Given the description of an element on the screen output the (x, y) to click on. 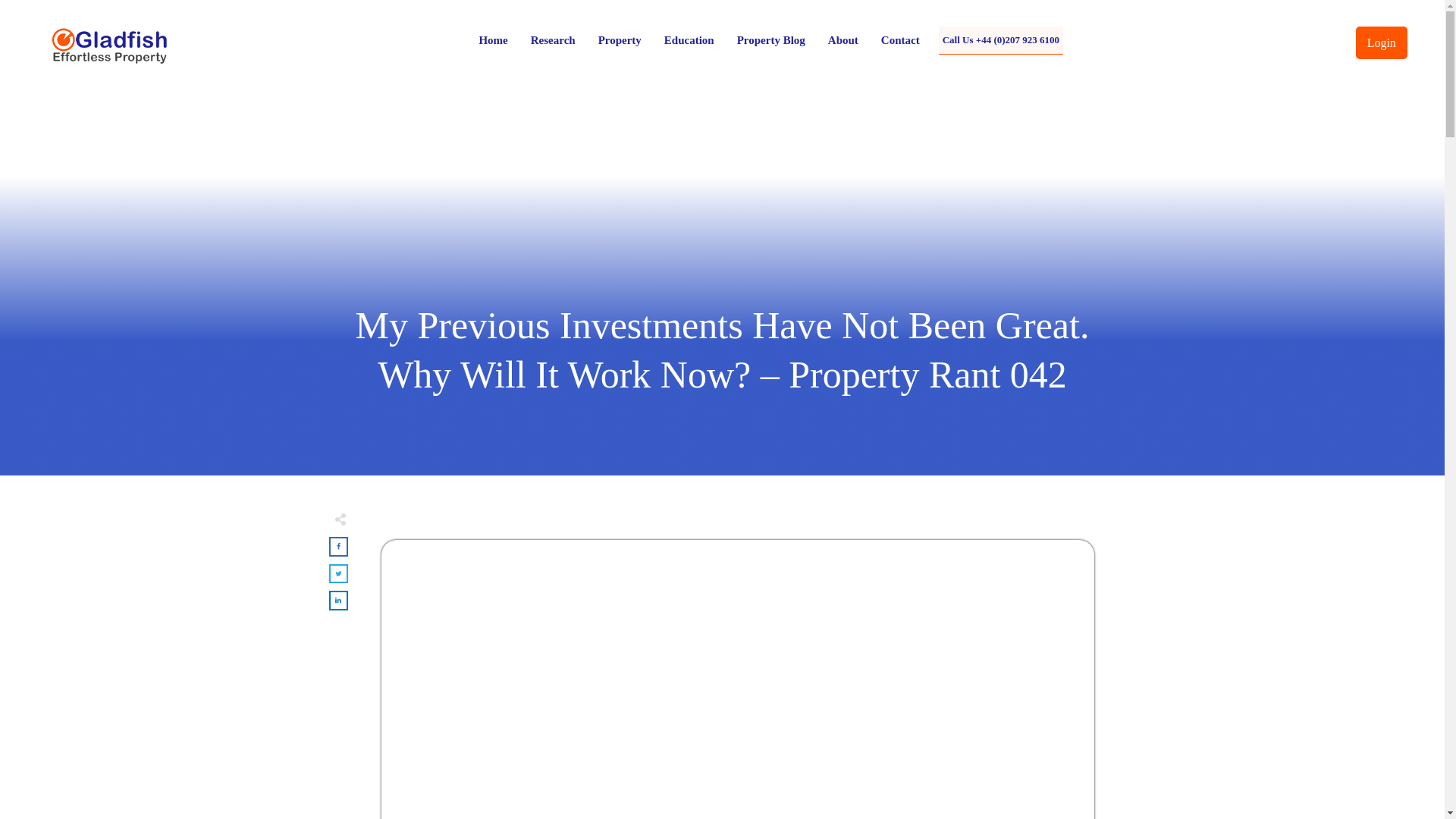
Contact (900, 40)
Login (1381, 42)
Education (688, 40)
Property (620, 40)
About (843, 40)
Research (553, 40)
Home (492, 40)
Property Blog (770, 40)
